Given the description of an element on the screen output the (x, y) to click on. 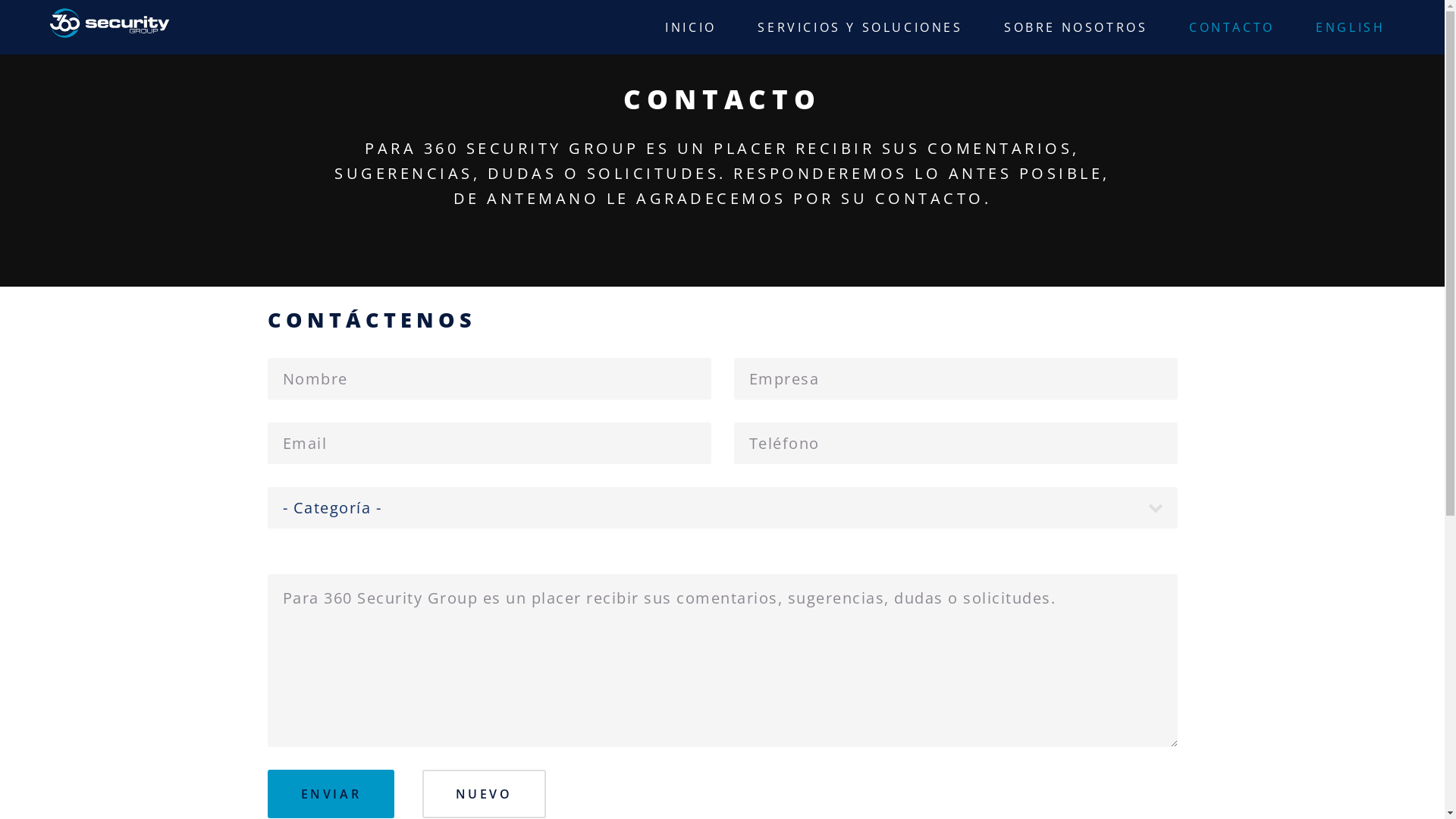
SERVICIOS Y SOLUCIONES Element type: text (859, 27)
INICIO Element type: text (690, 27)
Enviar Element type: text (330, 793)
ENGLISH Element type: text (1349, 27)
SOBRE NOSOTROS Element type: text (1075, 27)
CONTACTO Element type: text (1231, 27)
